Given the description of an element on the screen output the (x, y) to click on. 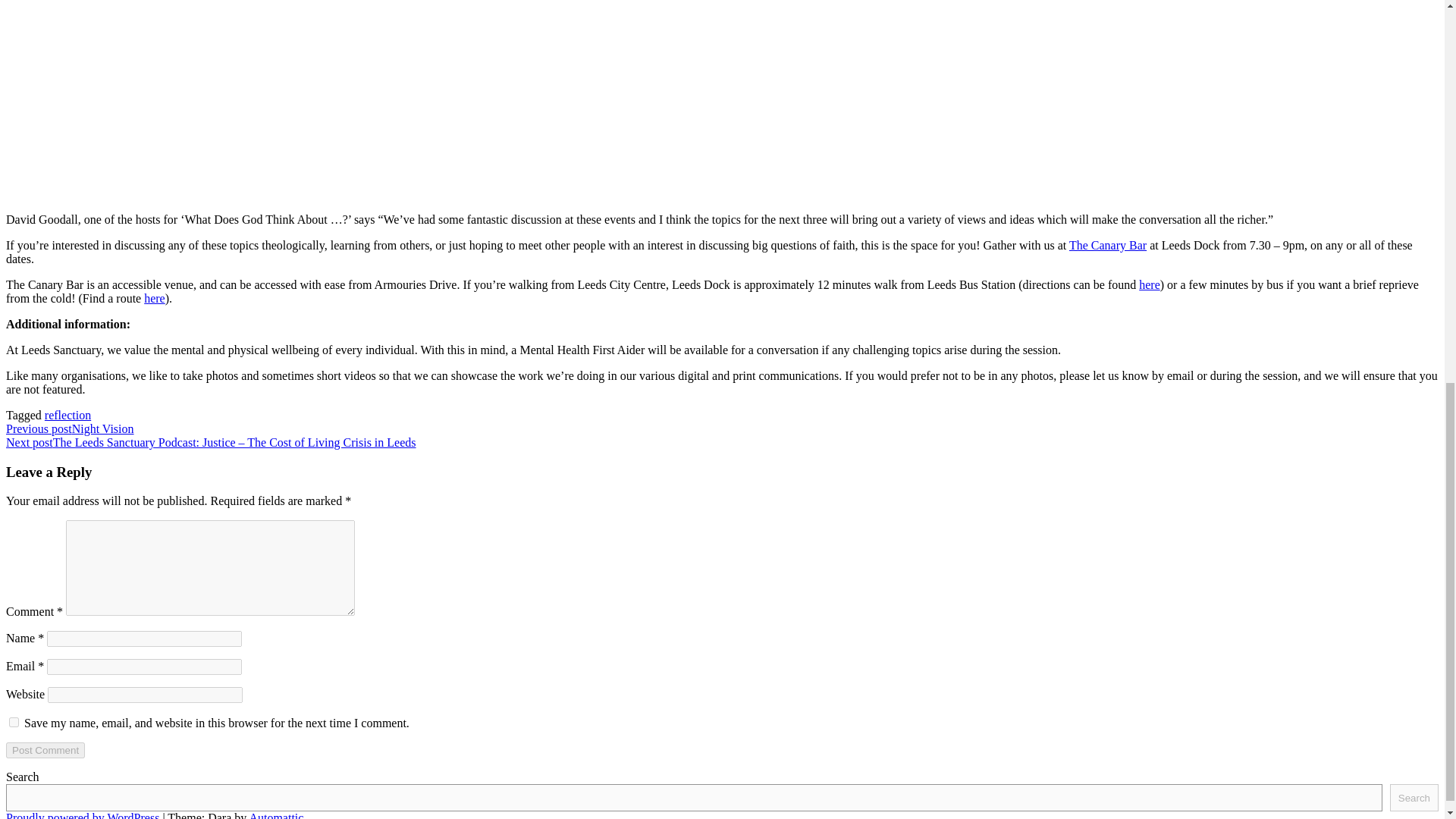
here (1149, 284)
reflection (67, 414)
Post Comment (44, 750)
Post Comment (44, 750)
Previous postNight Vision (69, 428)
The Canary Bar (1107, 245)
here (154, 297)
yes (13, 722)
